Given the description of an element on the screen output the (x, y) to click on. 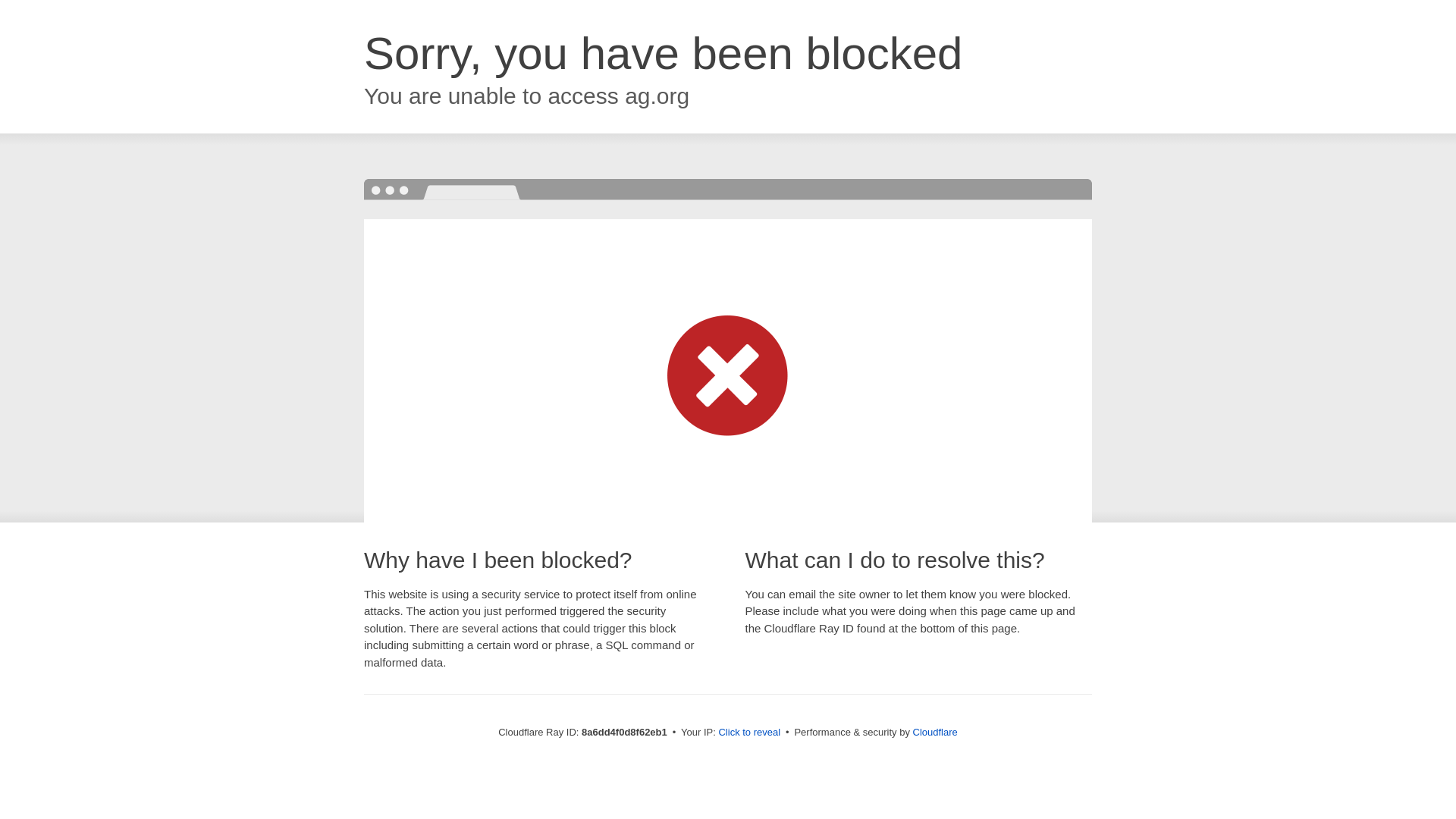
Click to reveal (748, 732)
Cloudflare (935, 731)
